Given the description of an element on the screen output the (x, y) to click on. 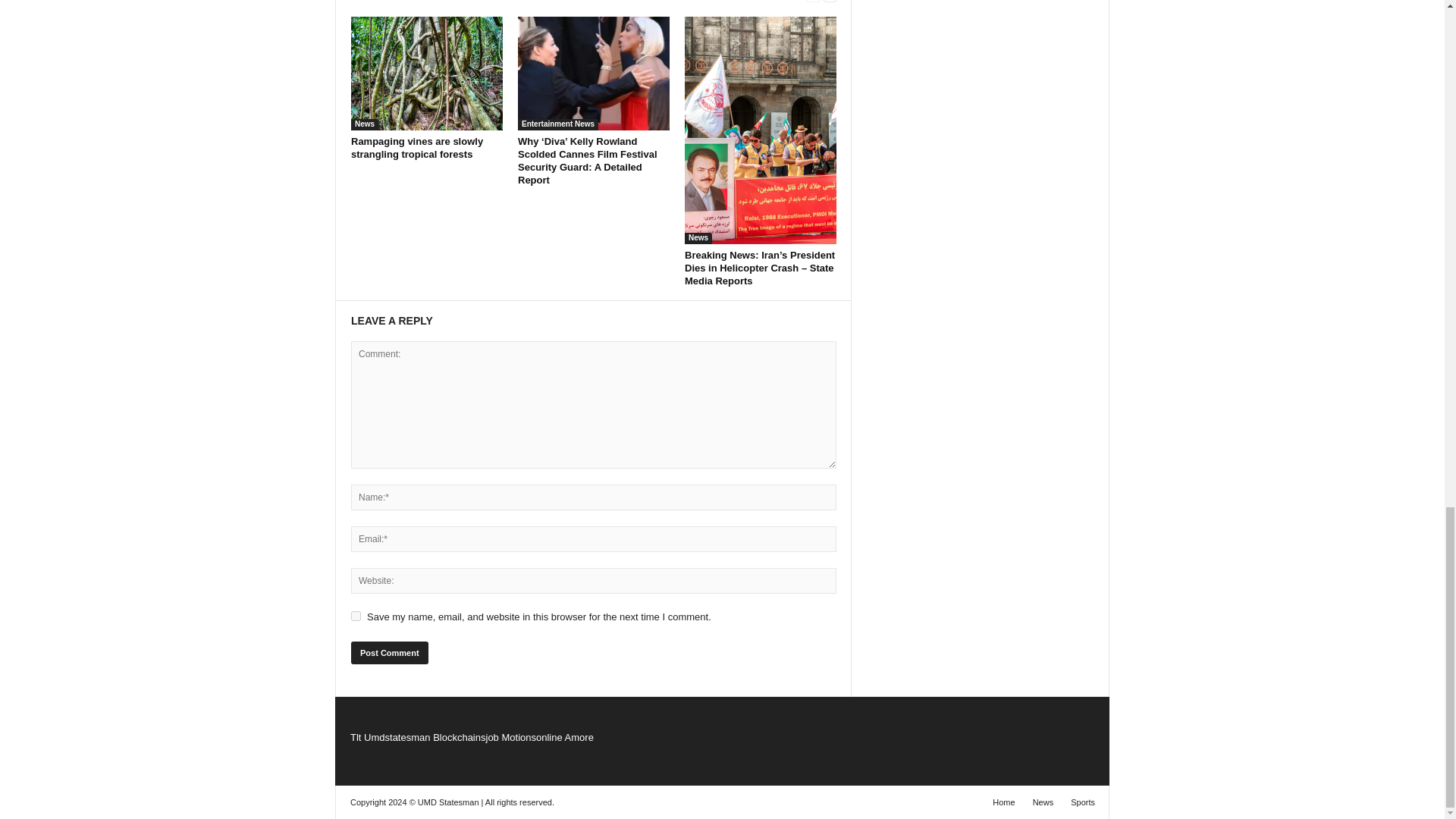
yes (355, 615)
Post Comment (389, 652)
